Given the description of an element on the screen output the (x, y) to click on. 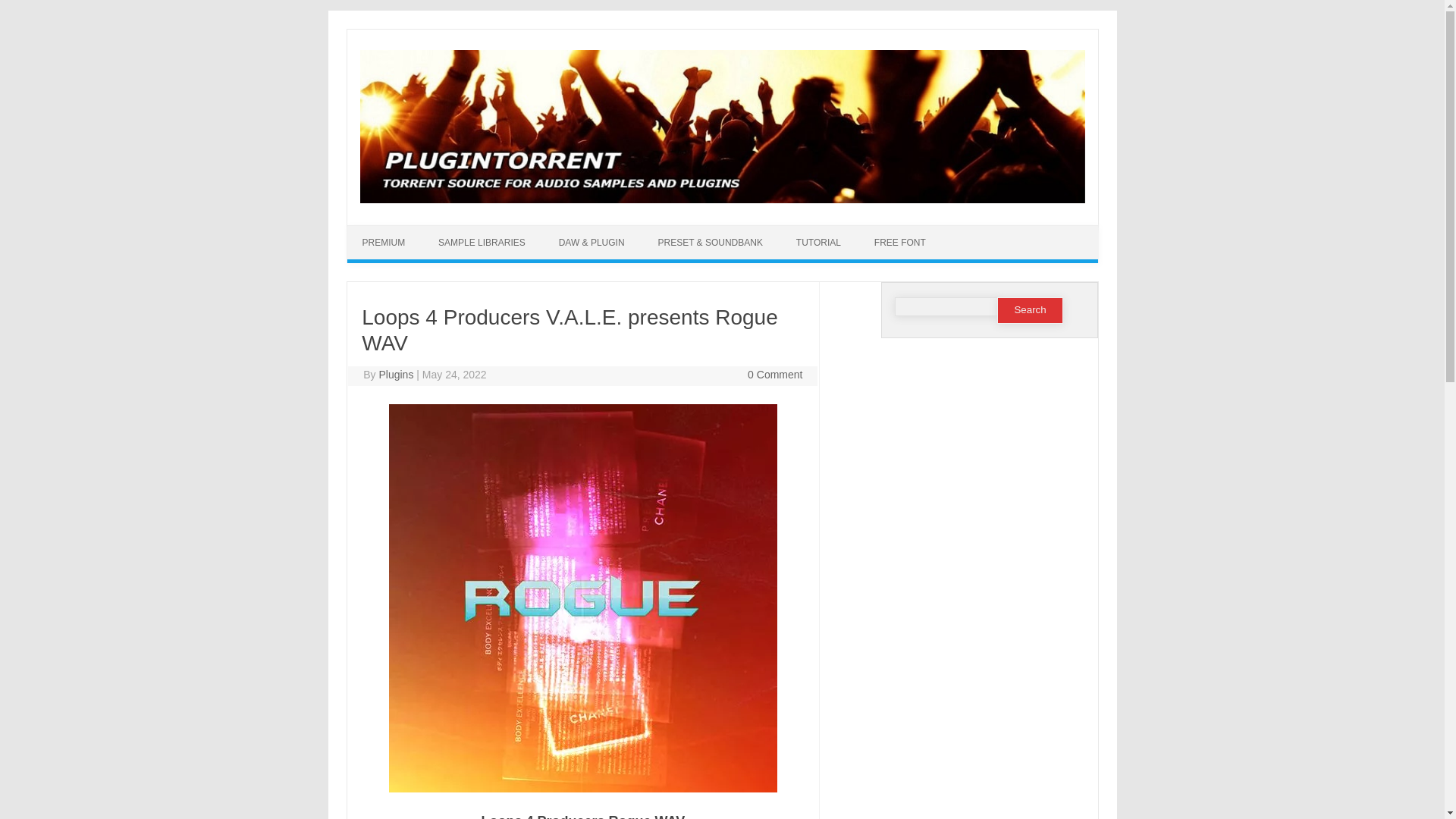
Posts by Plugins (395, 374)
Plugintorrent (721, 199)
FREE FONT (899, 242)
SAMPLE LIBRARIES (481, 242)
Skip to content (757, 230)
Search (1029, 310)
Plugins (395, 374)
TUTORIAL (818, 242)
PREMIUM (383, 242)
Skip to content (757, 230)
